Given the description of an element on the screen output the (x, y) to click on. 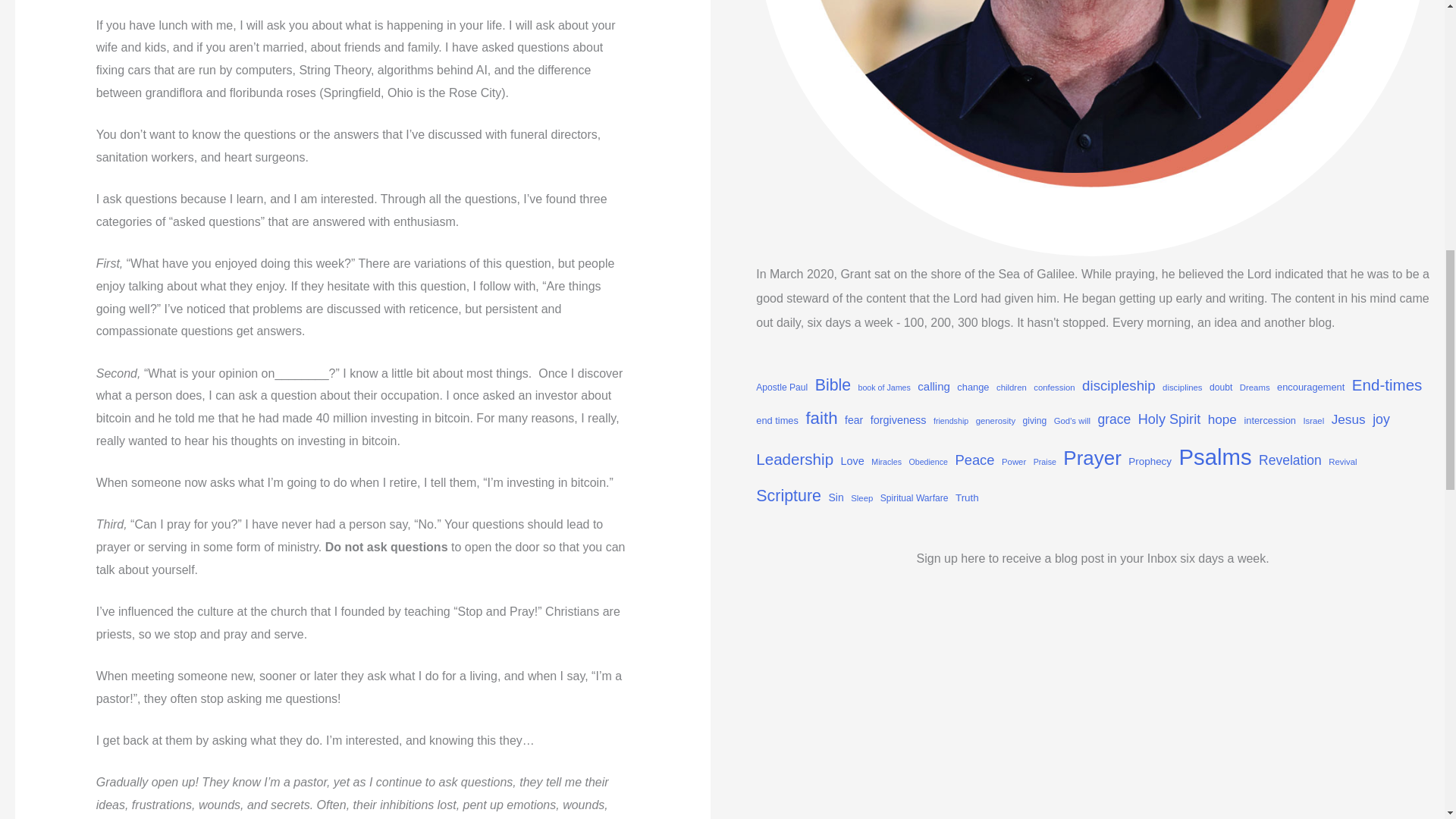
Apostle Paul (781, 387)
book of James (885, 387)
disciplines (1181, 387)
Bible (832, 385)
calling (933, 386)
confession (1053, 387)
discipleship (1118, 385)
doubt (1220, 387)
change (972, 387)
children (1010, 387)
